Given the description of an element on the screen output the (x, y) to click on. 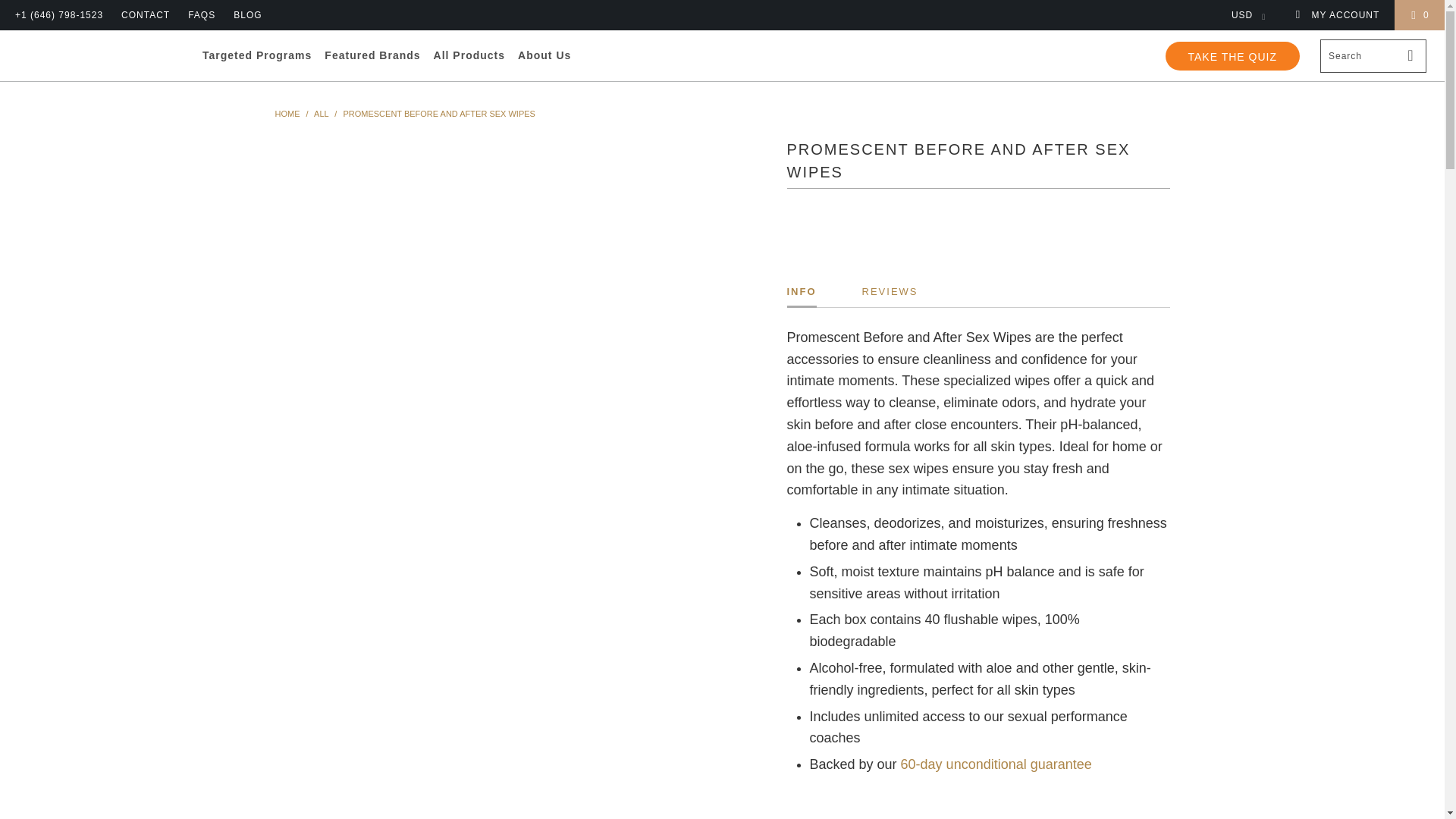
All (321, 112)
The Private Gym (287, 112)
My Account  (1336, 14)
60 day unconditional guarantee (996, 764)
